Given the description of an element on the screen output the (x, y) to click on. 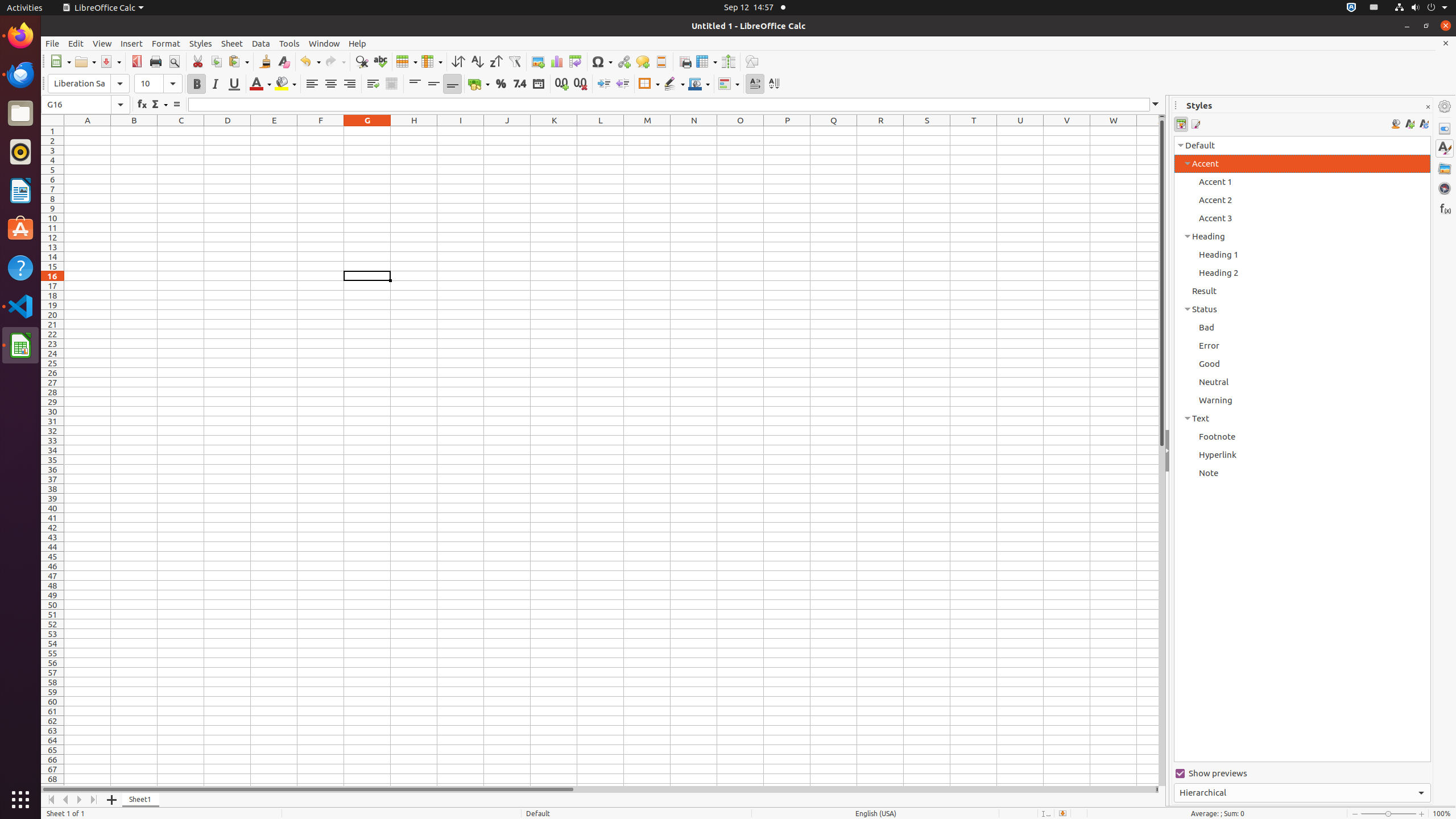
Align Bottom Element type: push-button (452, 83)
Align Top Element type: push-button (414, 83)
Move Right Element type: push-button (79, 799)
Cell Styles Element type: push-button (1180, 123)
Cut Element type: push-button (197, 61)
